Given the description of an element on the screen output the (x, y) to click on. 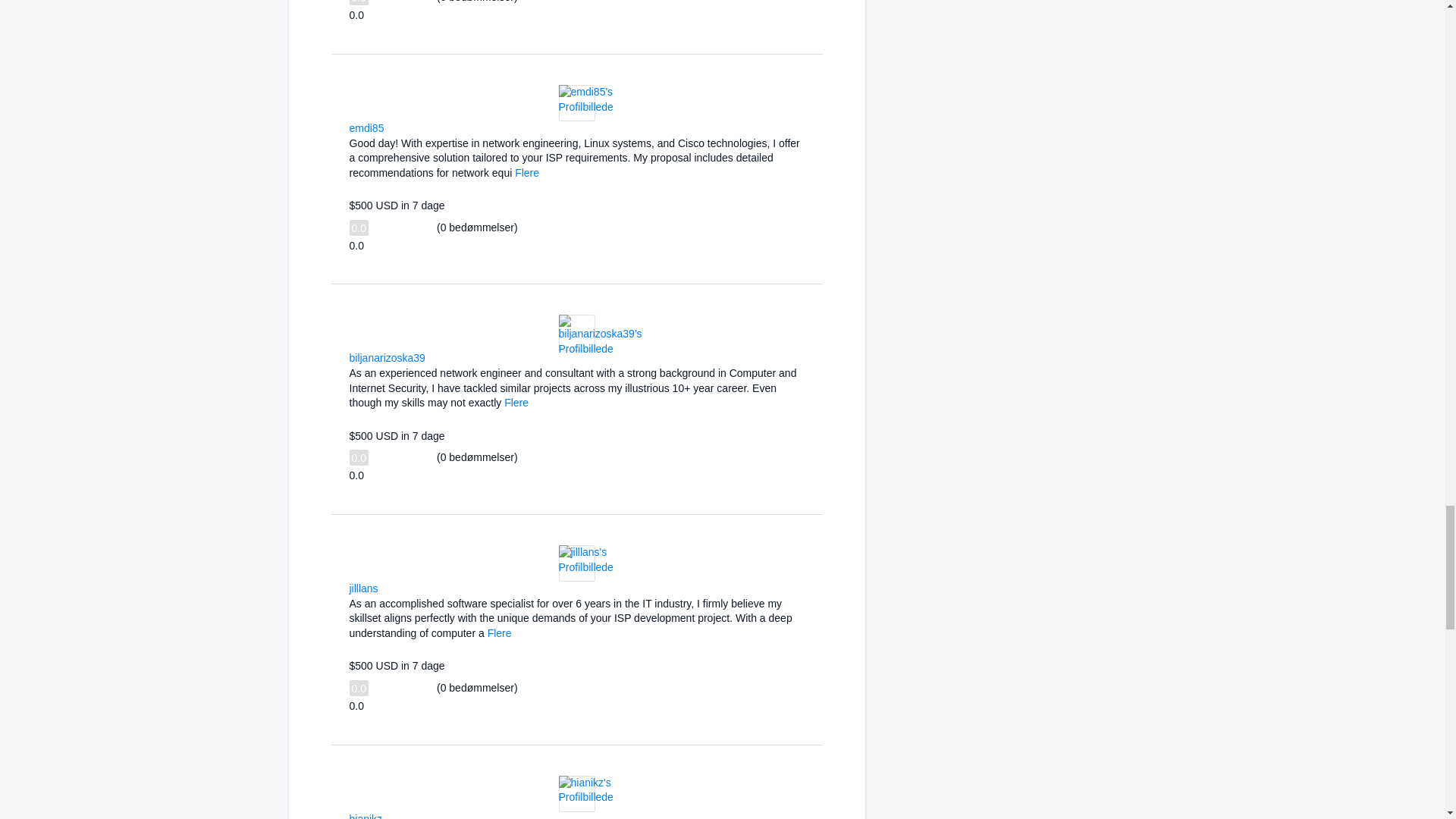
Flere (526, 173)
Flere (499, 633)
Se emdi85's Profil (584, 105)
Flere (515, 402)
jilllans (363, 588)
emdi85 (366, 128)
Macedonia (435, 356)
biljanarizoska39 (387, 357)
United Kingdom (393, 126)
Se biljanarizoska39's Profil (599, 348)
Se jilllans's Profil (584, 567)
